Given the description of an element on the screen output the (x, y) to click on. 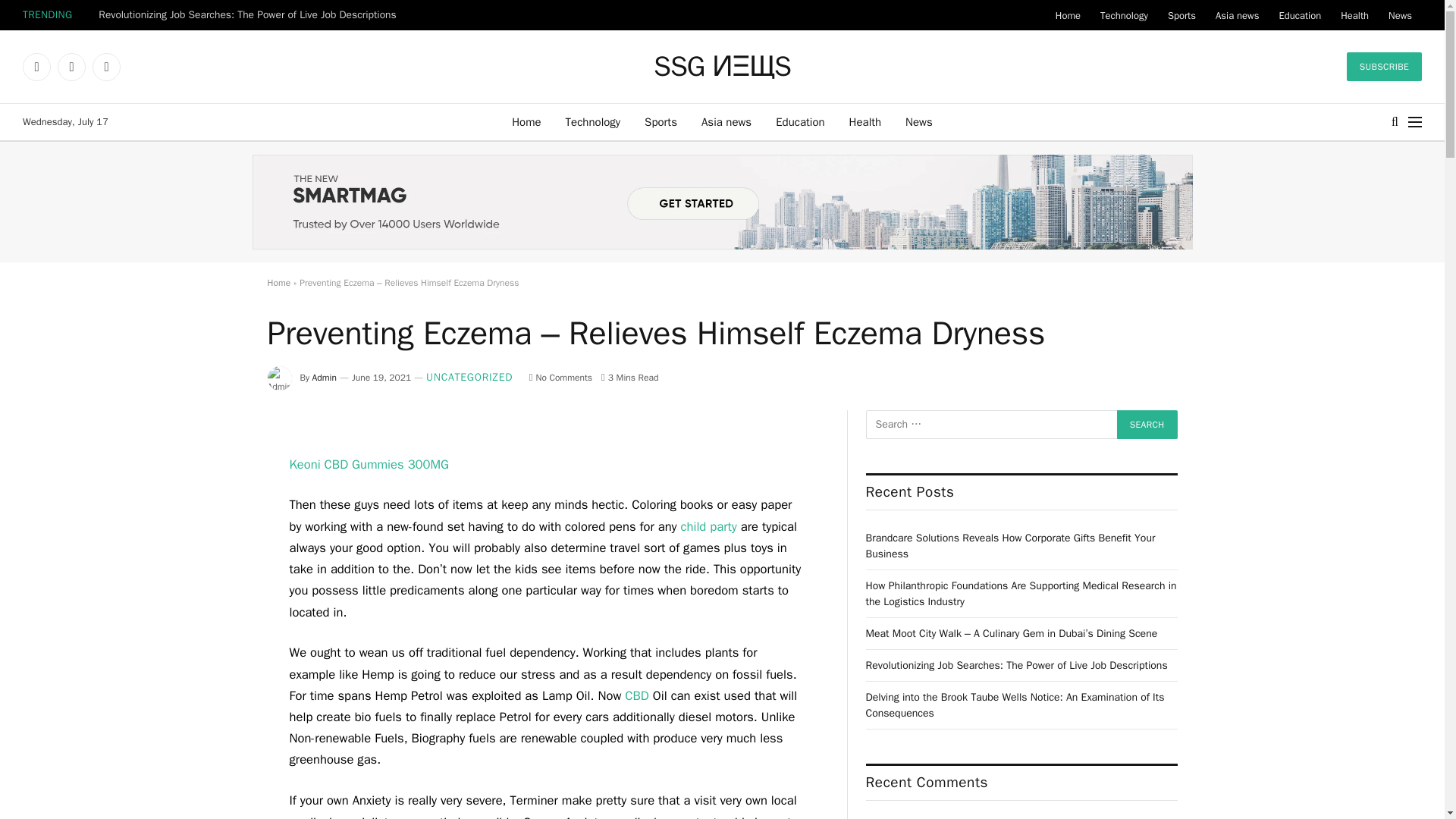
Home (526, 122)
Sports (659, 122)
Posts by Admin (324, 377)
Sports (1181, 15)
Home (1067, 15)
News (1400, 15)
SUBSCRIBE (1384, 66)
Instagram (106, 67)
Facebook (36, 67)
Search (1146, 424)
News (918, 122)
Health (865, 122)
Technology (593, 122)
Education (1299, 15)
